Given the description of an element on the screen output the (x, y) to click on. 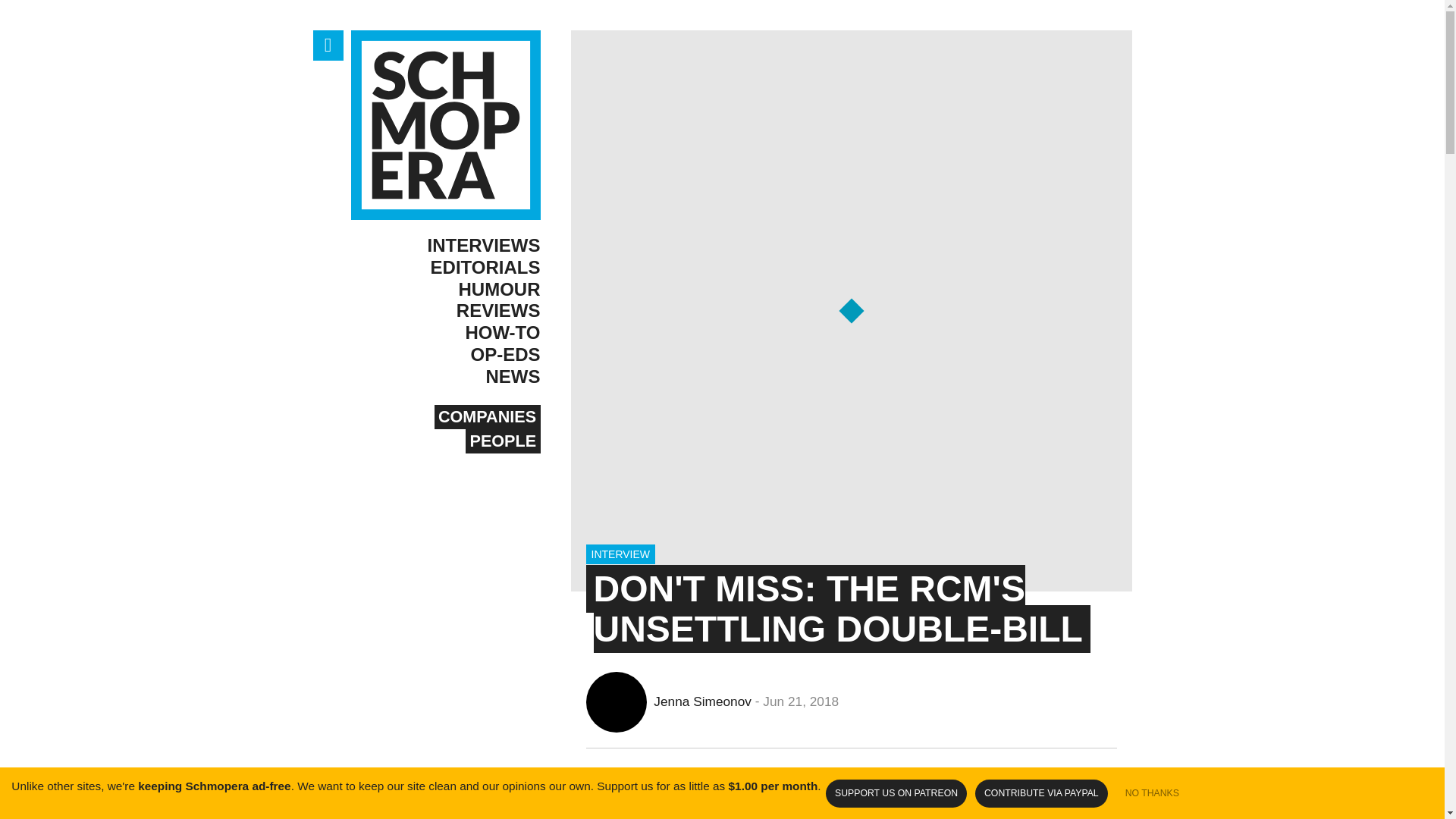
HUMOUR (445, 290)
Jenna Simeonov (664, 700)
Back to home page (445, 125)
OP-EDS (445, 354)
HOW-TO (445, 332)
PEOPLE (502, 441)
REVIEWS (445, 311)
COMPANIES (486, 416)
EDITORIALS (445, 268)
Don't miss: the RCM's unsettling double-bill (836, 608)
